Given the description of an element on the screen output the (x, y) to click on. 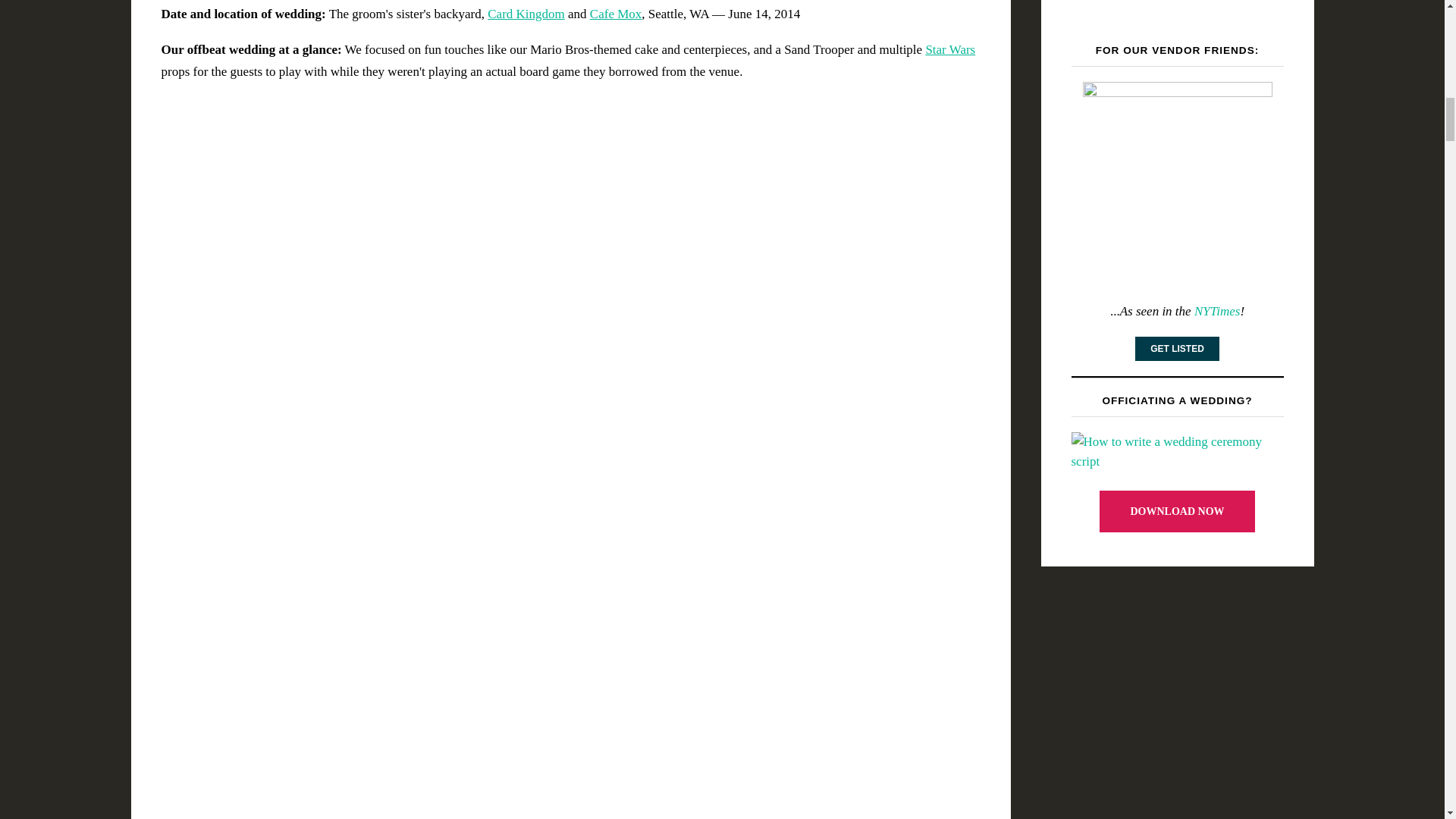
Card Kingdom (525, 13)
